Given the description of an element on the screen output the (x, y) to click on. 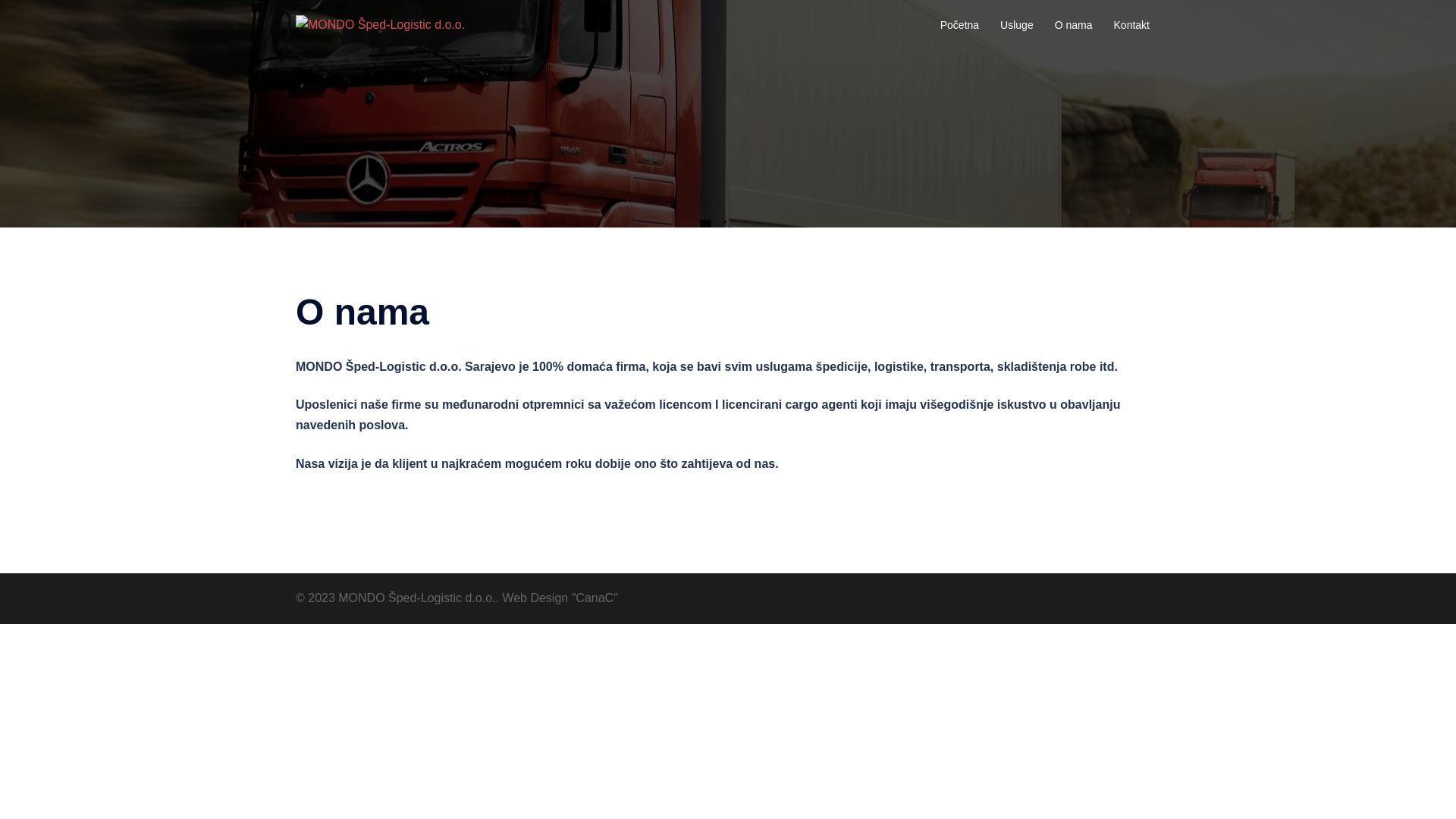
Usluge Element type: text (1016, 25)
O nama Element type: text (1073, 25)
Kontakt Element type: text (1131, 25)
